Given the description of an element on the screen output the (x, y) to click on. 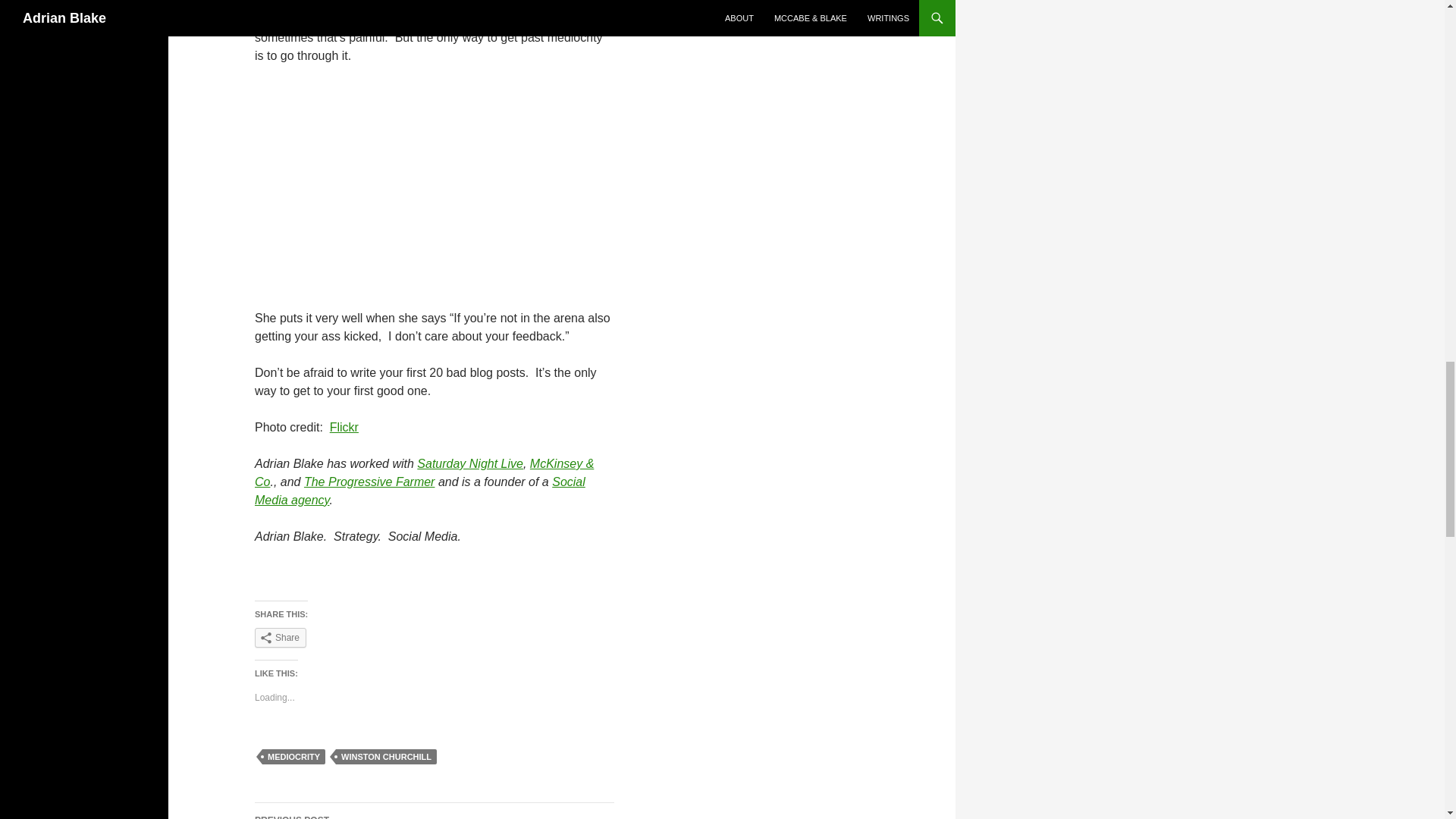
Flickr (344, 427)
MEDIOCRITY (293, 756)
The Progressive Farmer (369, 481)
Saturday Night Live (469, 463)
WINSTON CHURCHILL (434, 811)
Social Media agency (386, 756)
Share (419, 490)
